Given the description of an element on the screen output the (x, y) to click on. 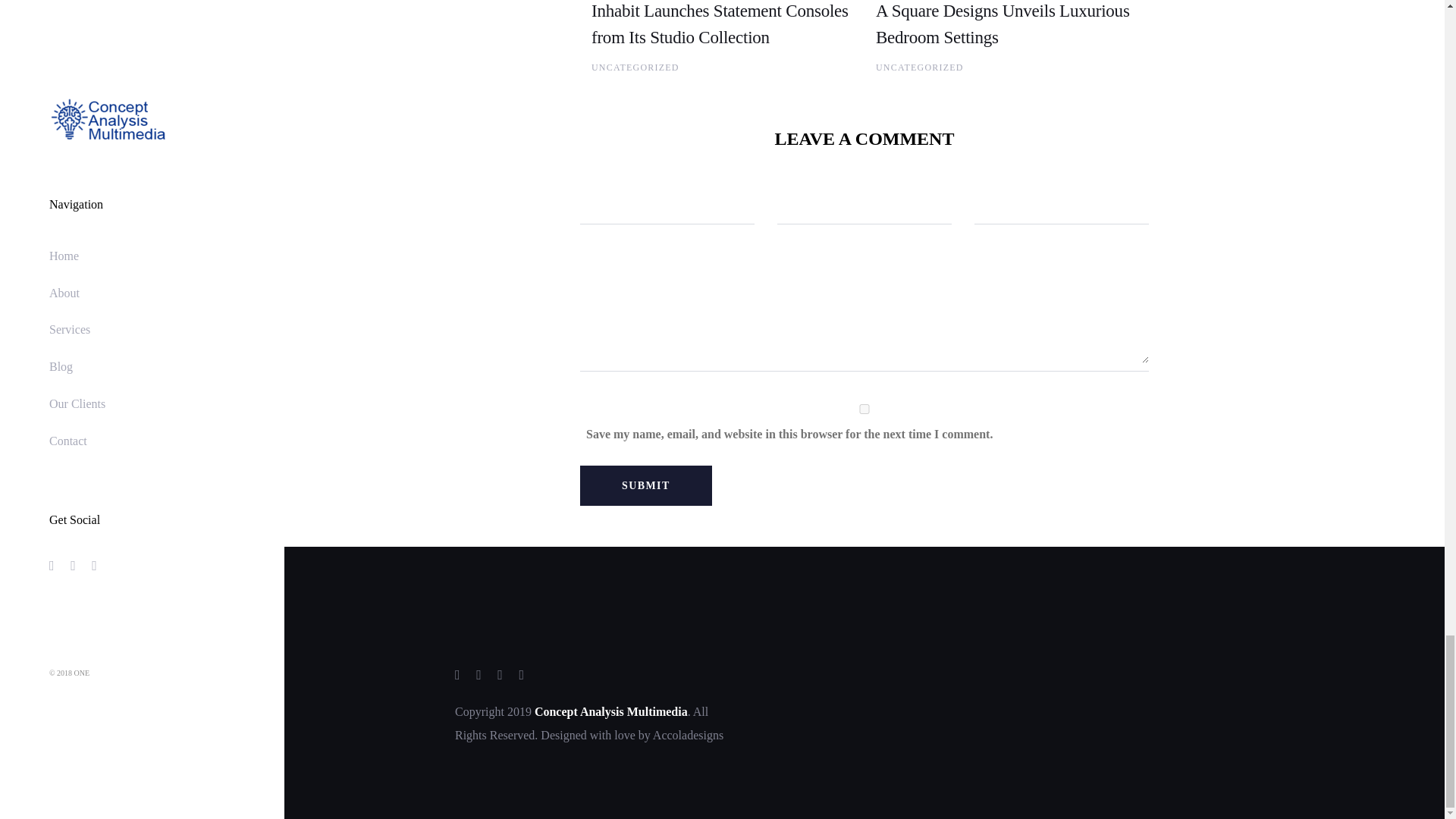
UNCATEGORIZED (635, 67)
yes (863, 409)
Submit (645, 486)
A Square Designs Unveils Luxurious Bedroom Settings (1002, 23)
Submit (645, 486)
UNCATEGORIZED (919, 67)
